Given the description of an element on the screen output the (x, y) to click on. 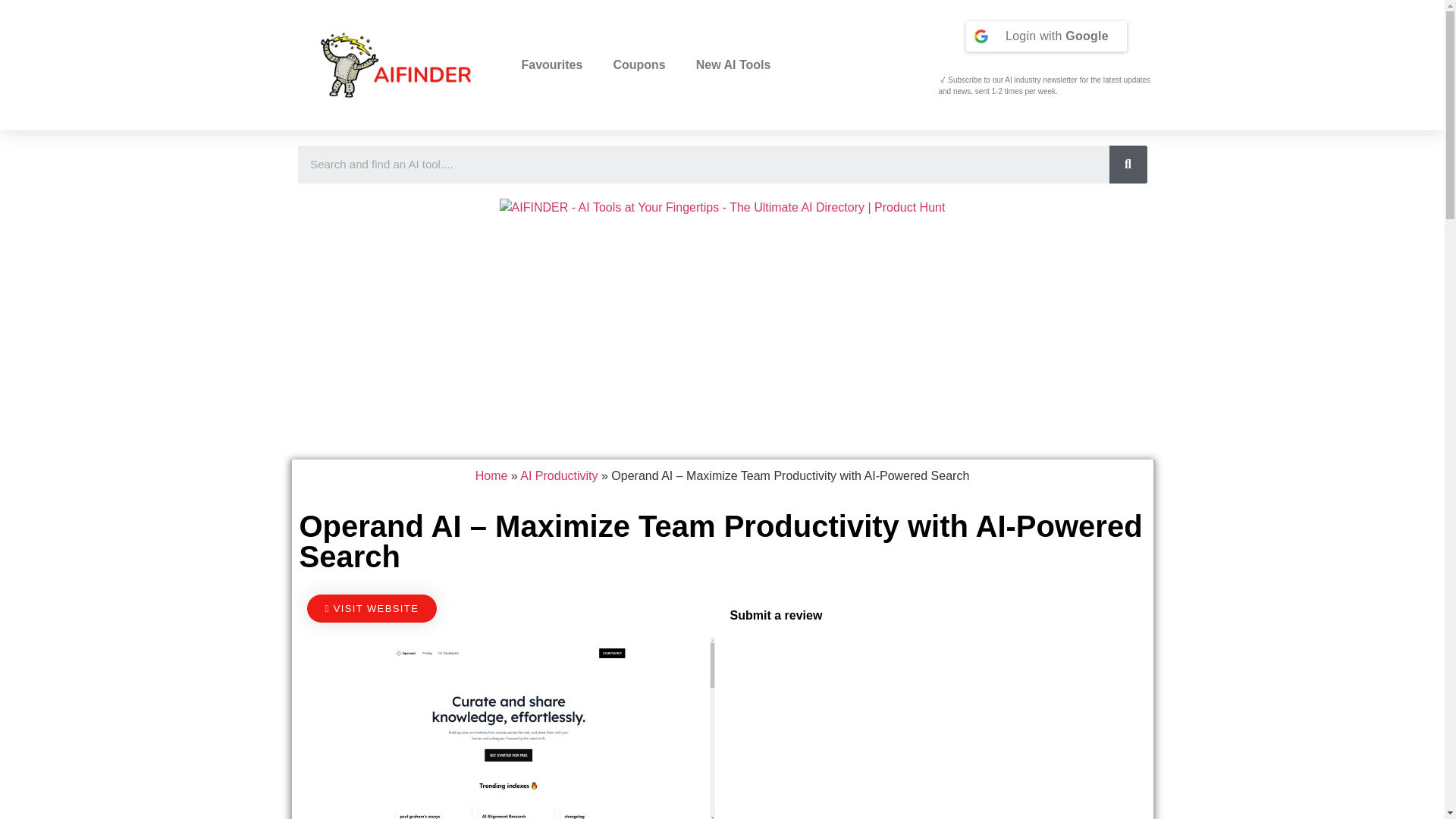
AI Productivity (557, 475)
Search (1127, 164)
Advertisement (933, 728)
New AI Tools (733, 64)
Search (702, 164)
Home (492, 475)
Submit a review (775, 615)
Coupons (637, 64)
Login with Google (1046, 36)
VISIT WEBSITE (370, 608)
Favourites (552, 64)
